Given the description of an element on the screen output the (x, y) to click on. 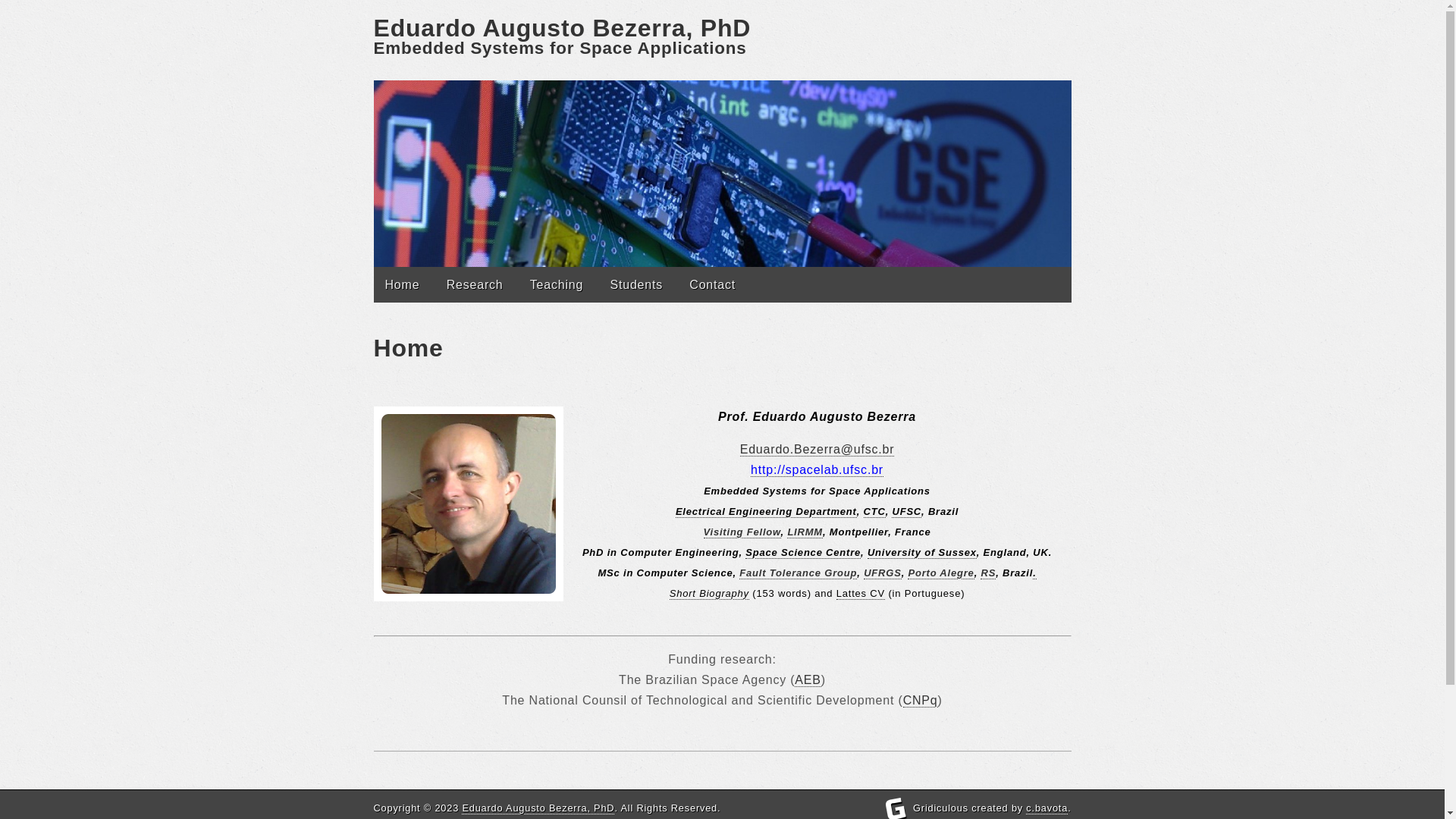
CTC Element type: text (874, 511)
Contact Element type: text (711, 284)
Eduardo.Bezerra@ufsc.br Element type: text (817, 449)
RS Element type: text (987, 573)
Home Element type: text (401, 284)
http://spacelab.ufsc.br Element type: text (816, 469)
Eduardo Augusto Bezerra, PhD Element type: text (537, 808)
Space Science Centre Element type: text (802, 552)
LIRMM Element type: text (804, 532)
Visiting Fellow Element type: text (742, 532)
UFSC Element type: text (906, 511)
AEB Element type: text (807, 680)
Electrical Engineering Department Element type: text (765, 511)
. Element type: text (1033, 573)
Porto Alegre Element type: text (940, 573)
Eduardo Augusto Bezerra, PhD Element type: text (561, 27)
c.bavota Element type: text (1046, 808)
University of Sussex Element type: text (921, 552)
Students Element type: text (636, 284)
Teaching Element type: text (556, 284)
UFRGS Element type: text (882, 573)
CNPq Element type: text (920, 700)
Research Element type: text (474, 284)
Short Biography Element type: text (709, 593)
Lattes CV Element type: text (860, 593)
Fault Tolerance Group Element type: text (797, 573)
